Given the description of an element on the screen output the (x, y) to click on. 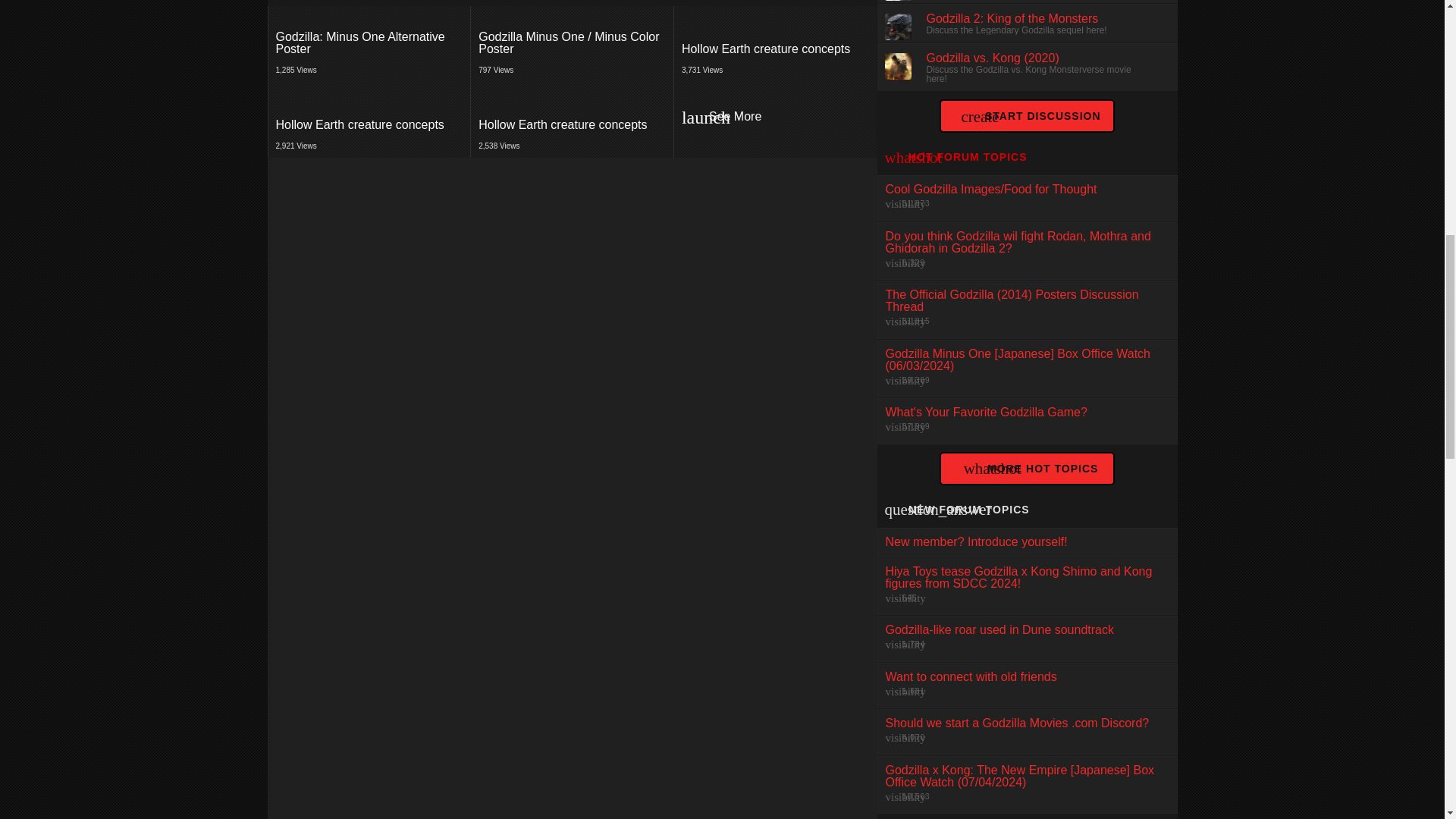
Godzilla: Minus One Alternative Poster Image (774, 43)
Godzilla: Minus One Alternative Poster (369, 43)
Hollow Earth creature concepts (572, 119)
See More (1026, 421)
Hollow Earth creature concepts Image (369, 43)
Hollow Earth creature concepts Image (775, 49)
Godzilla 2: King of the Monsters (368, 119)
See More (774, 119)
Hollow Earth creature concepts Image (775, 49)
